Given the description of an element on the screen output the (x, y) to click on. 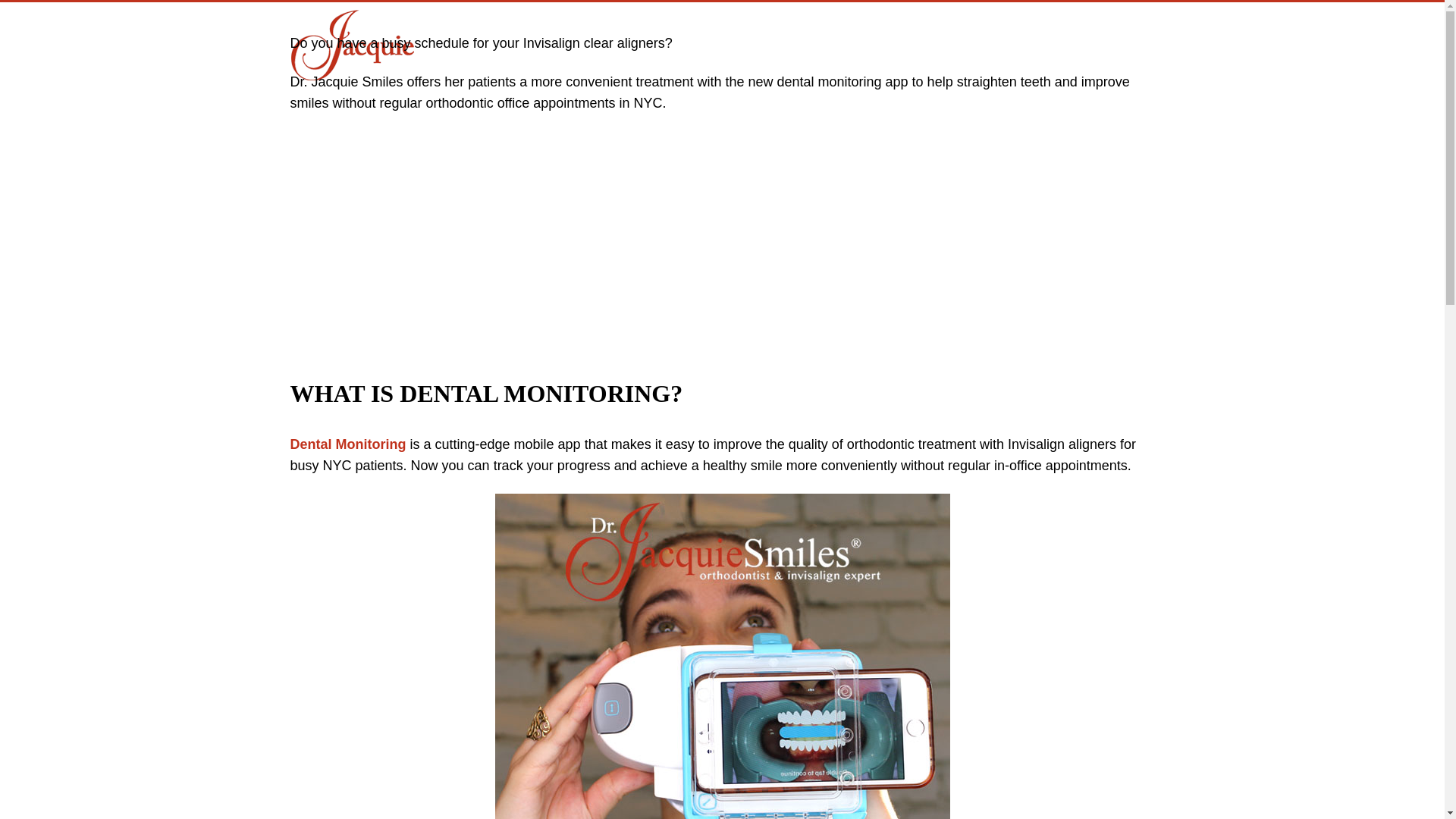
Menu  (1133, 23)
